Given the description of an element on the screen output the (x, y) to click on. 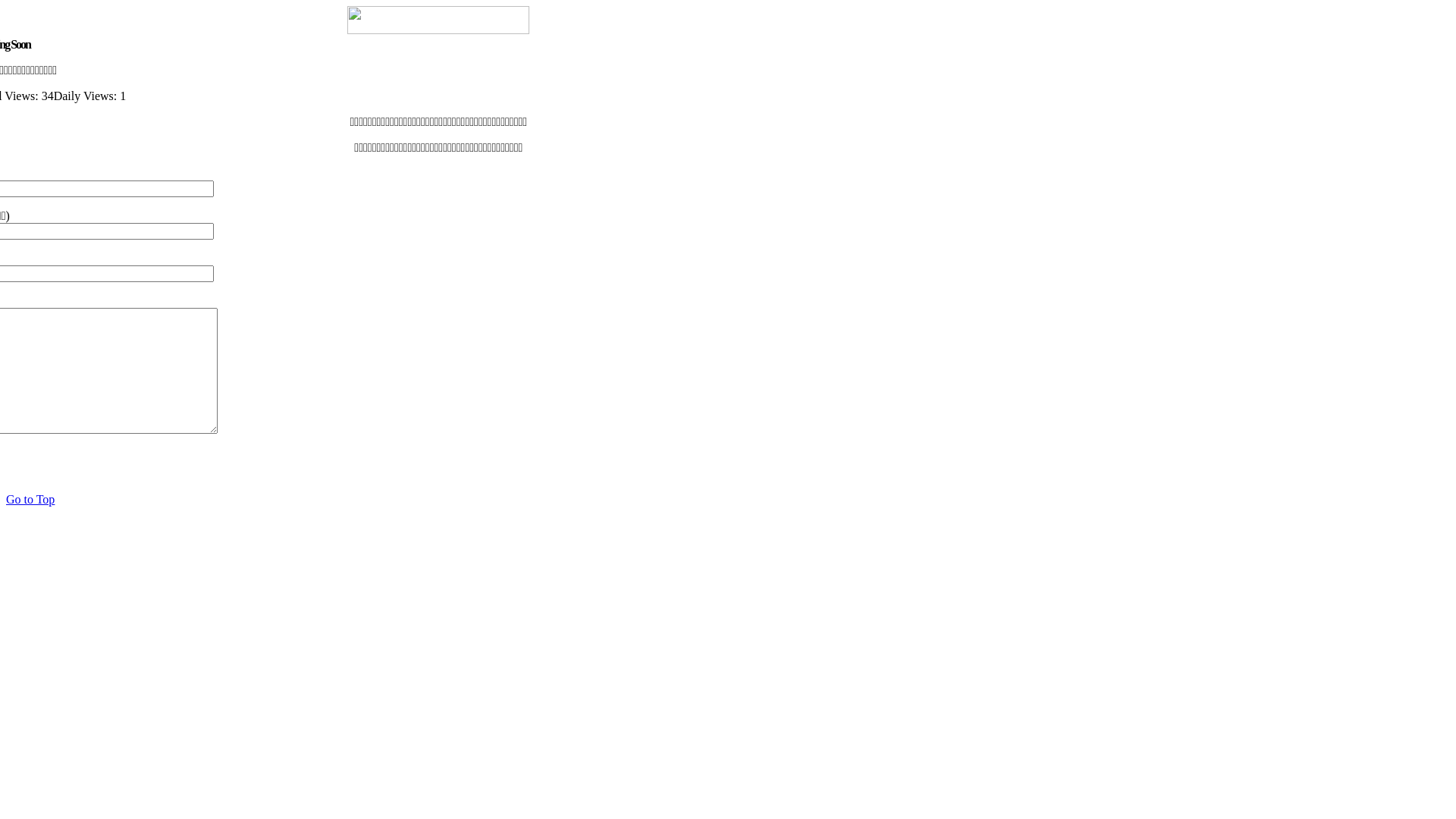
Go to Top Element type: text (30, 498)
footlogo_2__mobile_large Element type: hover (438, 20)
